Given the description of an element on the screen output the (x, y) to click on. 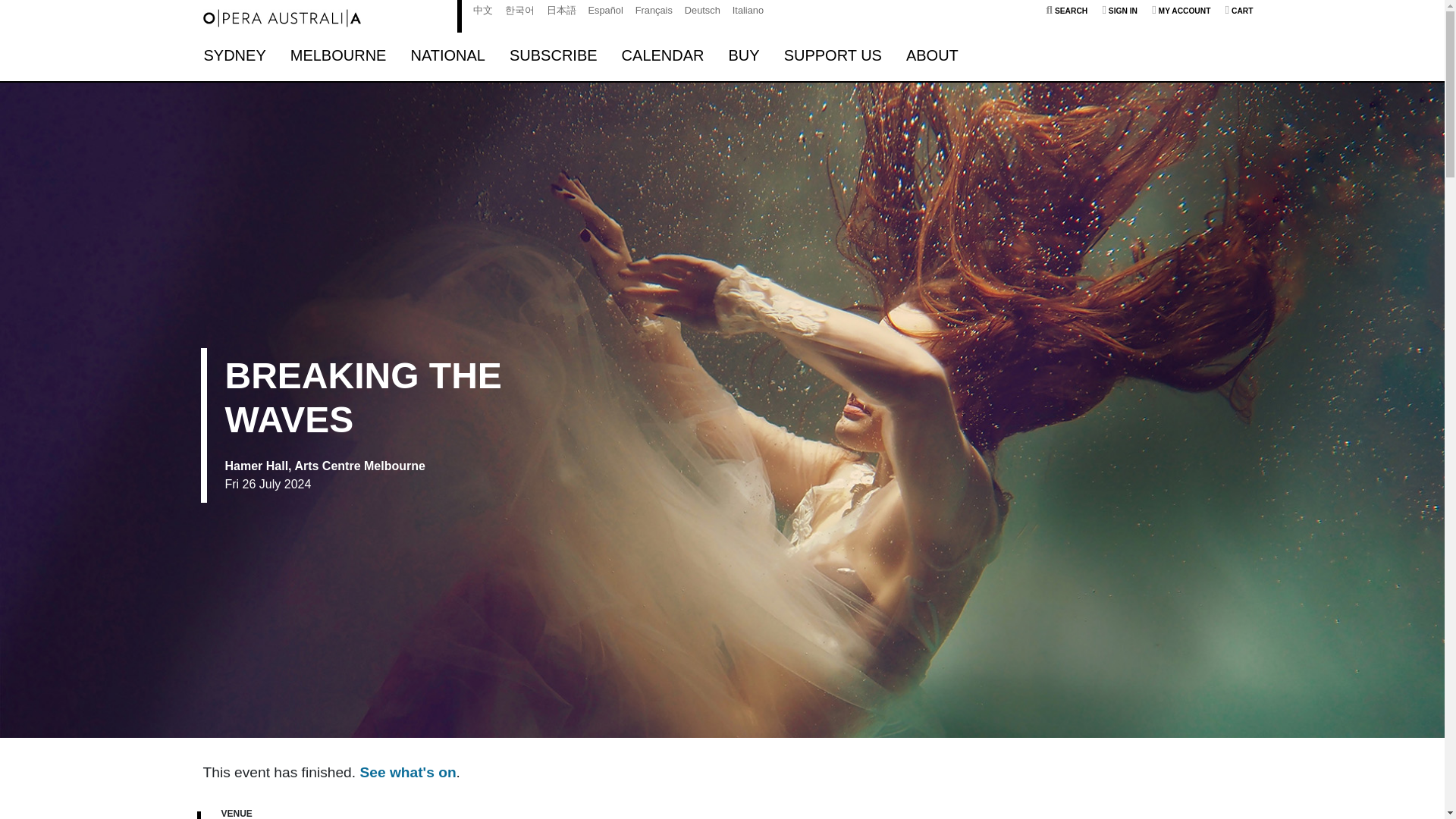
NATIONAL (447, 55)
SIGN IN (1119, 10)
MY ACCOUNT (1180, 10)
CART (1239, 10)
SYDNEY (233, 55)
Deutsch (702, 9)
MELBOURNE (338, 55)
SEARCH (1066, 10)
Italiano (747, 9)
